Given the description of an element on the screen output the (x, y) to click on. 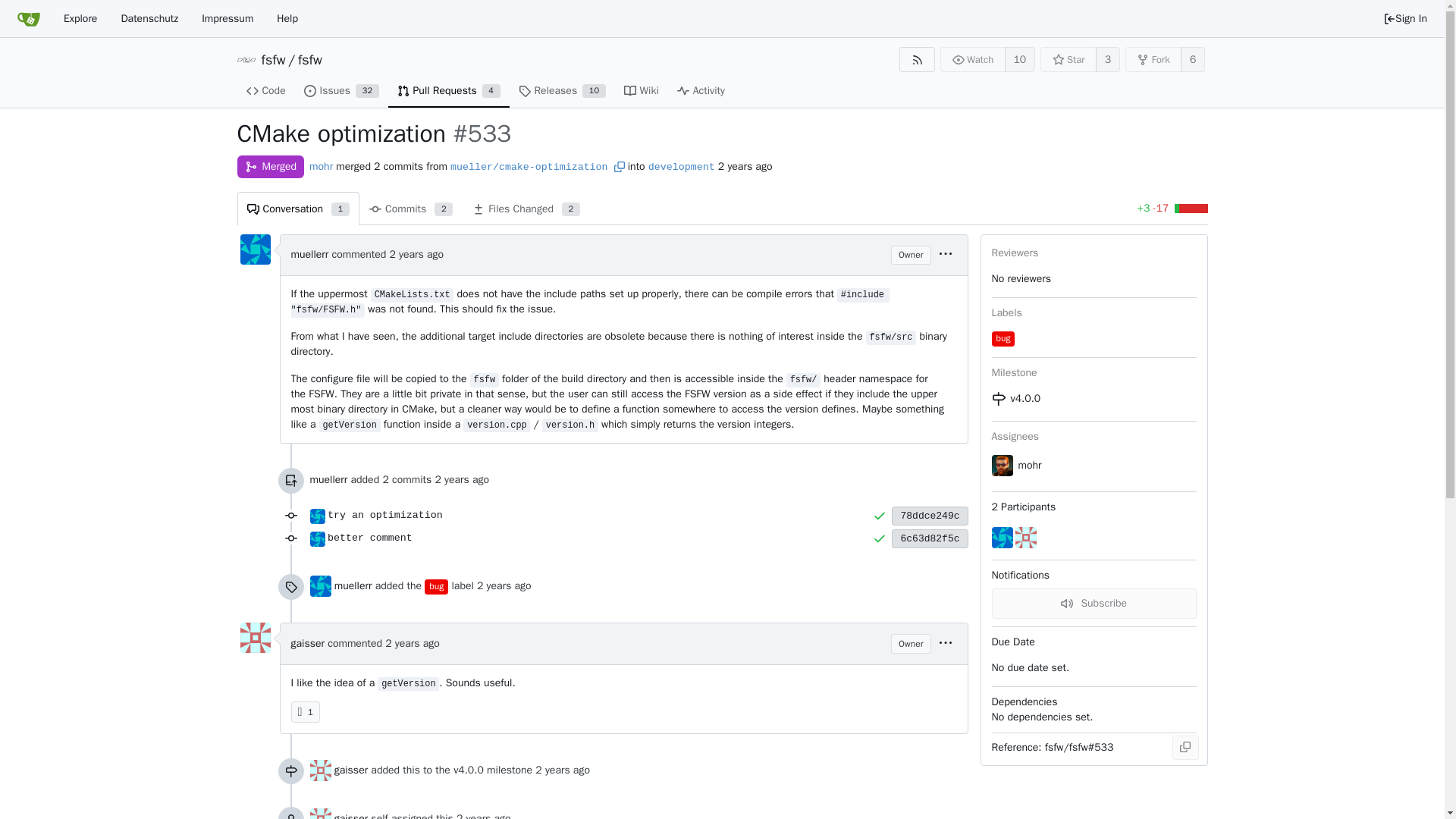
Explore (79, 17)
better comment (599, 538)
Something is not working (436, 586)
Wiki (641, 91)
Impressum (227, 17)
mohr (320, 165)
Steffen Gaisser (319, 770)
6 (297, 208)
Datenschutz (1192, 59)
muellerr (148, 17)
Fork (341, 91)
development (327, 479)
Star (1153, 59)
